Given the description of an element on the screen output the (x, y) to click on. 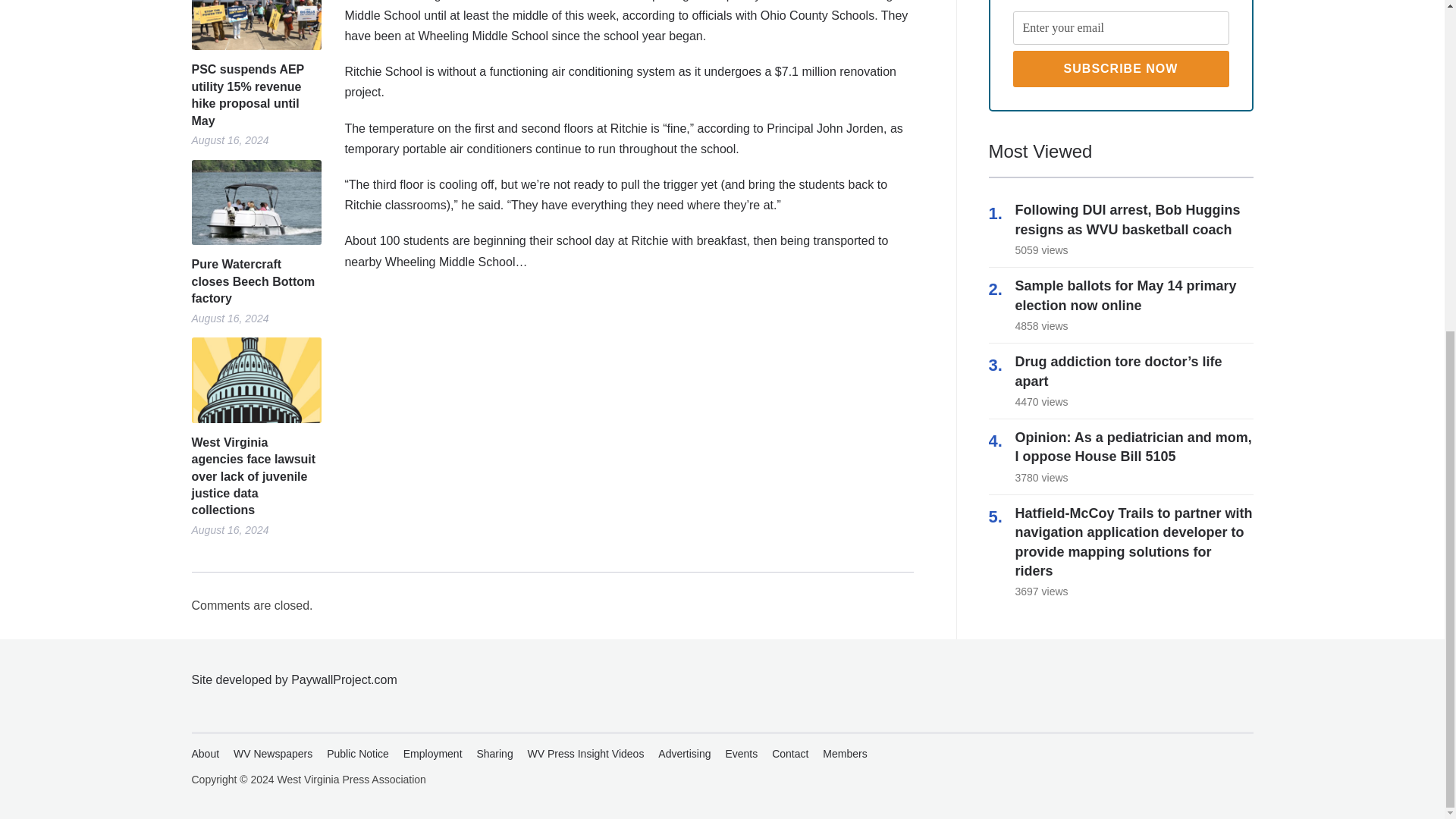
Permalink to Pure Watercraft closes Beech Bottom factory (255, 202)
Permalink to Pure Watercraft closes Beech Bottom factory (255, 281)
Subscribe Now (1120, 68)
